Given the description of an element on the screen output the (x, y) to click on. 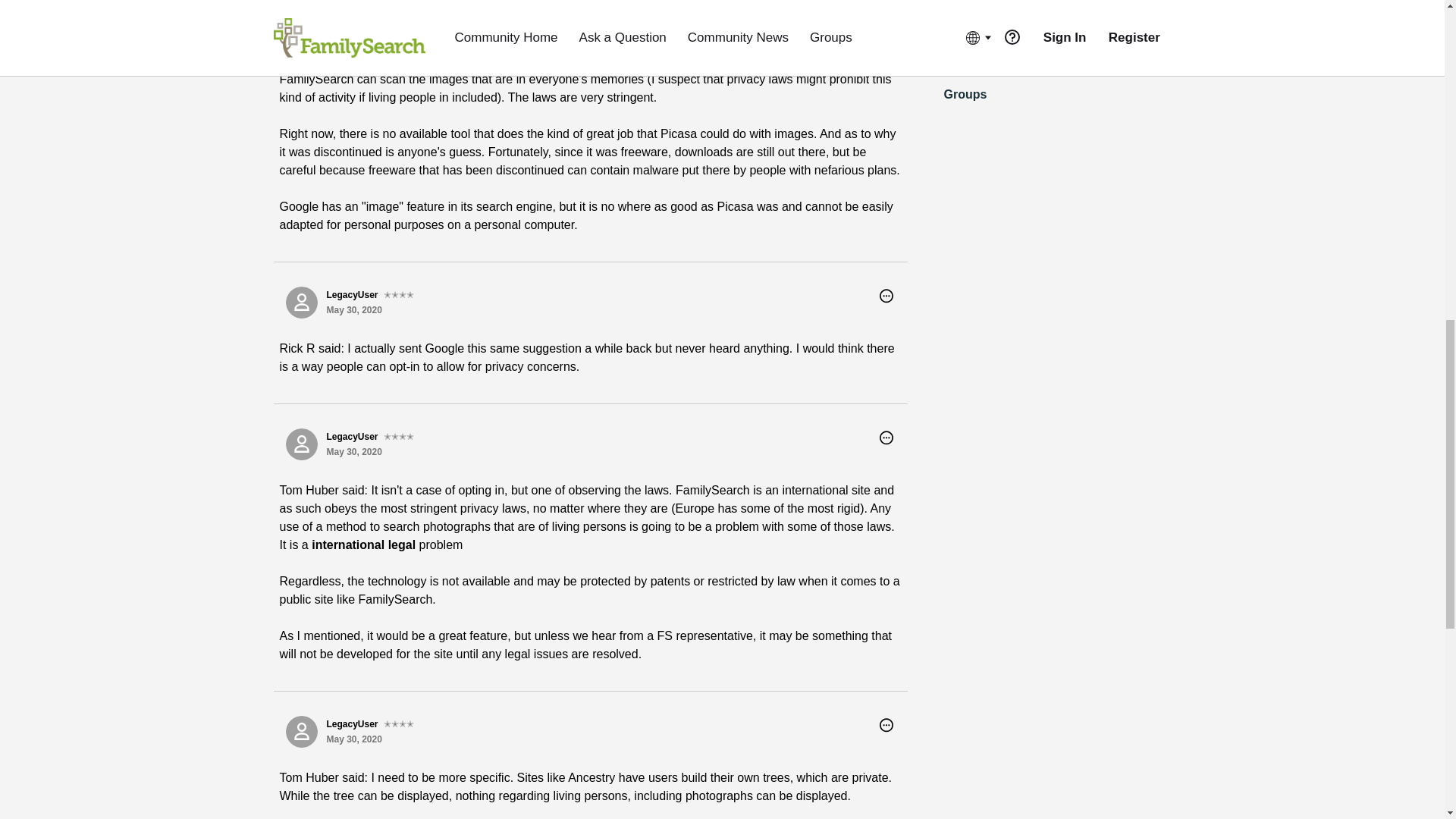
May 30, 2020 12:36AM (353, 309)
LegacyUser (301, 302)
Level 4 (398, 295)
Level 4 (398, 436)
LegacyUser (301, 444)
